Given the description of an element on the screen output the (x, y) to click on. 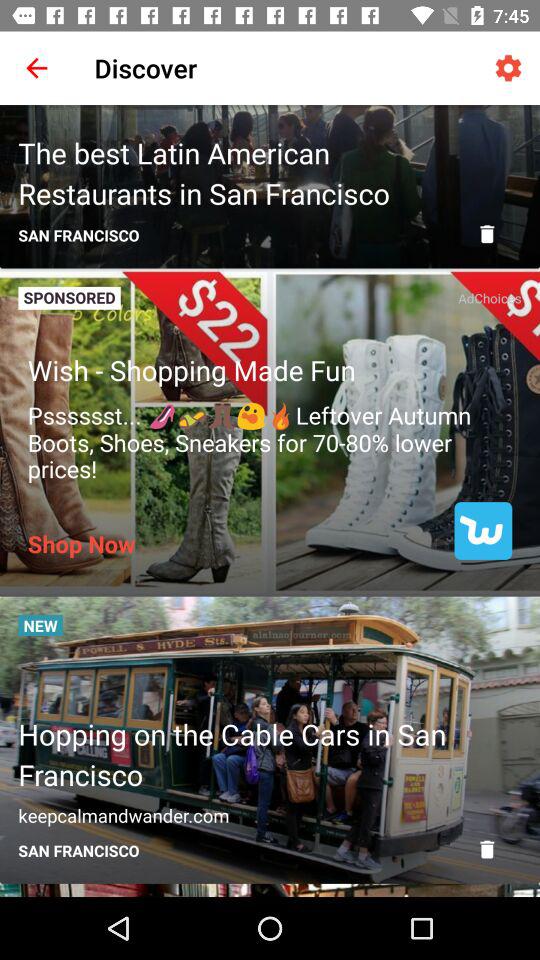
delete (487, 233)
